Given the description of an element on the screen output the (x, y) to click on. 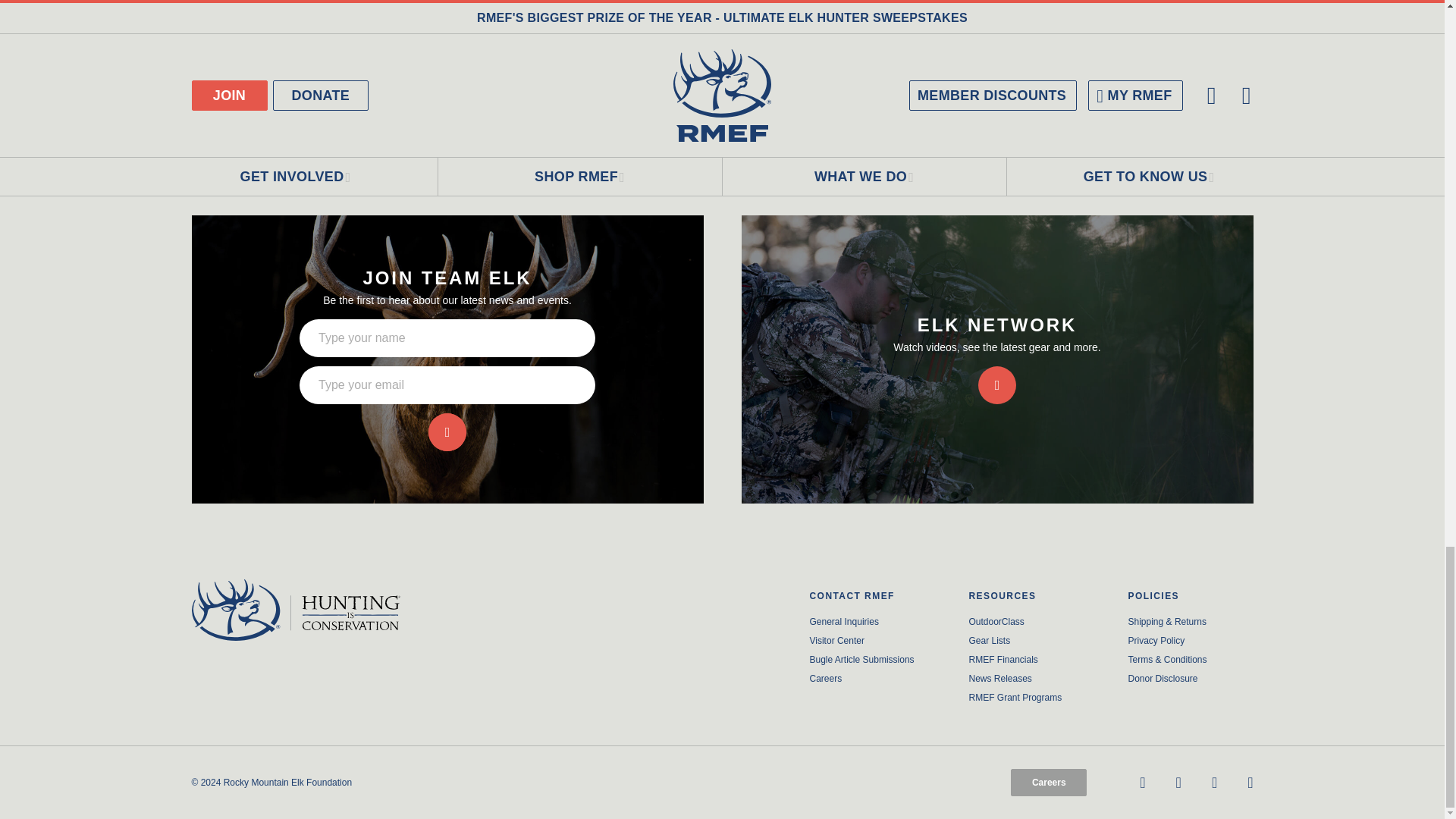
Home (314, 609)
